Given the description of an element on the screen output the (x, y) to click on. 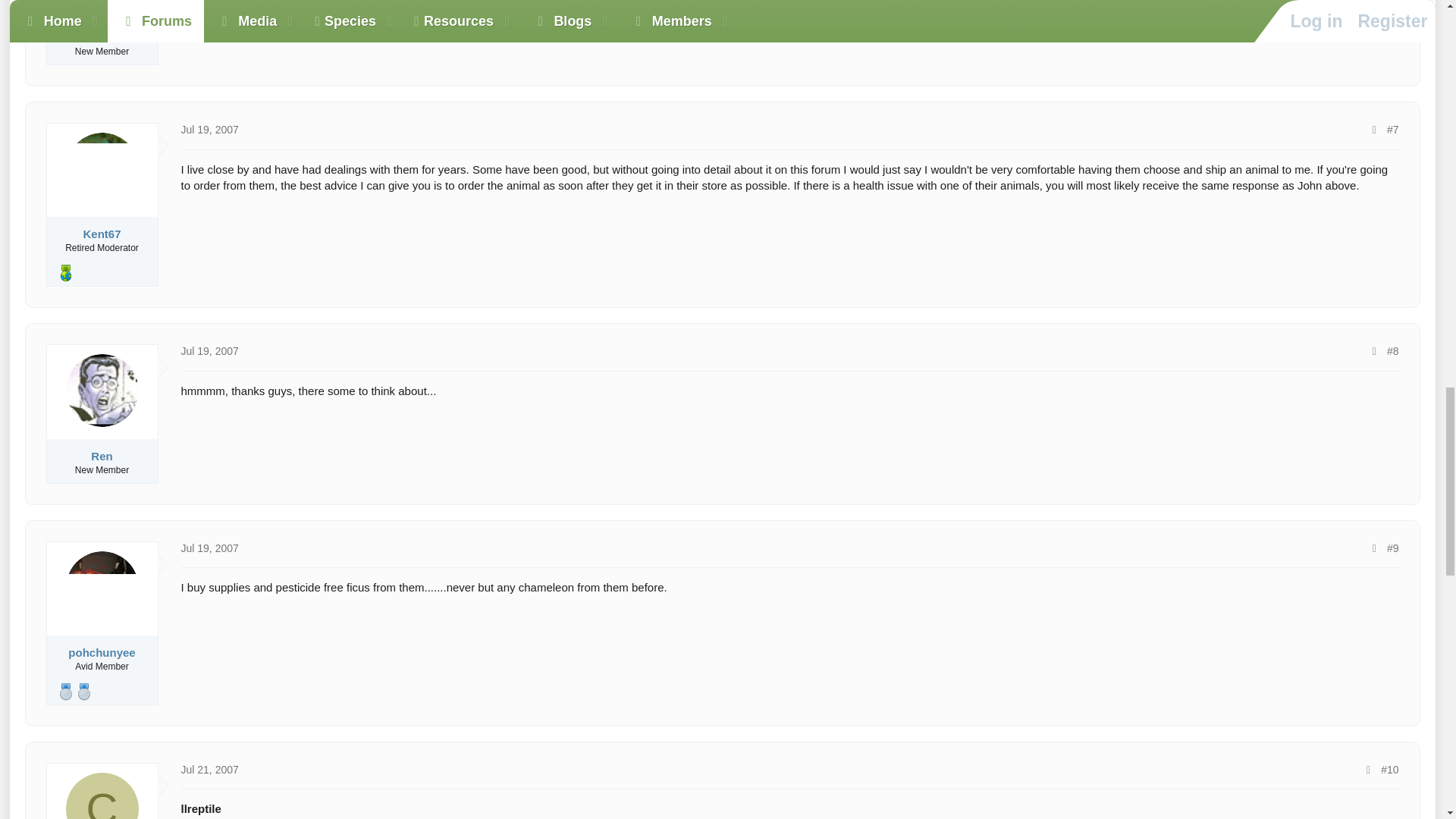
Jul 19, 2007 at 10:40 PM (209, 548)
Jul 21, 2007 at 10:36 PM (209, 769)
Jul 19, 2007 at 10:17 PM (209, 350)
Jul 19, 2007 at 10:11 PM (209, 129)
